Given the description of an element on the screen output the (x, y) to click on. 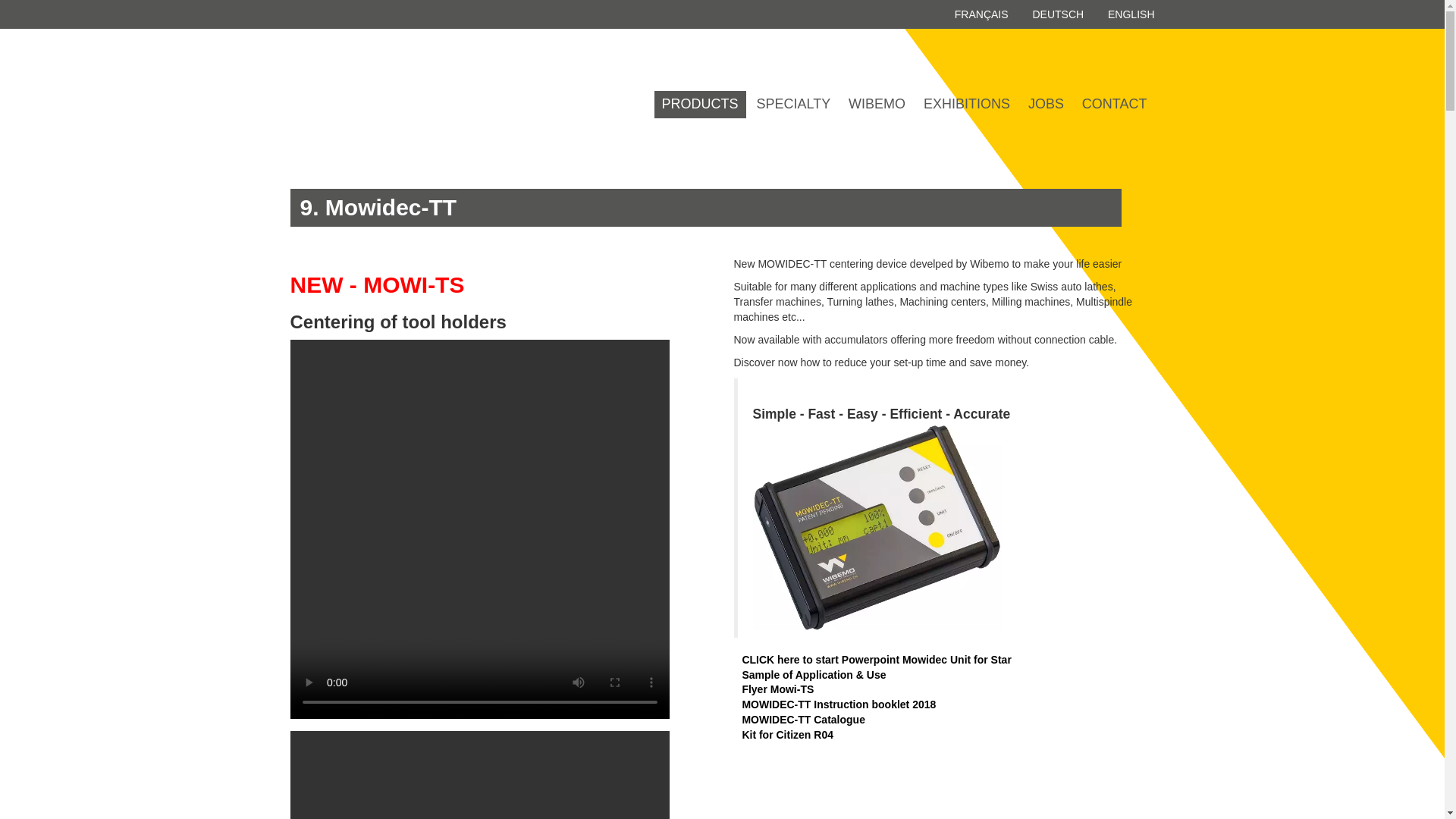
Flyer Mowi-TS (773, 689)
MOWIDEC-TT Catalogue (798, 719)
CONTACT (1114, 103)
MOWIDEC-TT Instruction booklet 2018 (834, 704)
SPECIALTY (793, 103)
Flyer Mowi-TS (773, 689)
MOWIDEC-TT Instruction booklet 2018 (834, 704)
JOBS (1045, 103)
WIBEMO (876, 103)
PRODUCTS (699, 103)
